Given the description of an element on the screen output the (x, y) to click on. 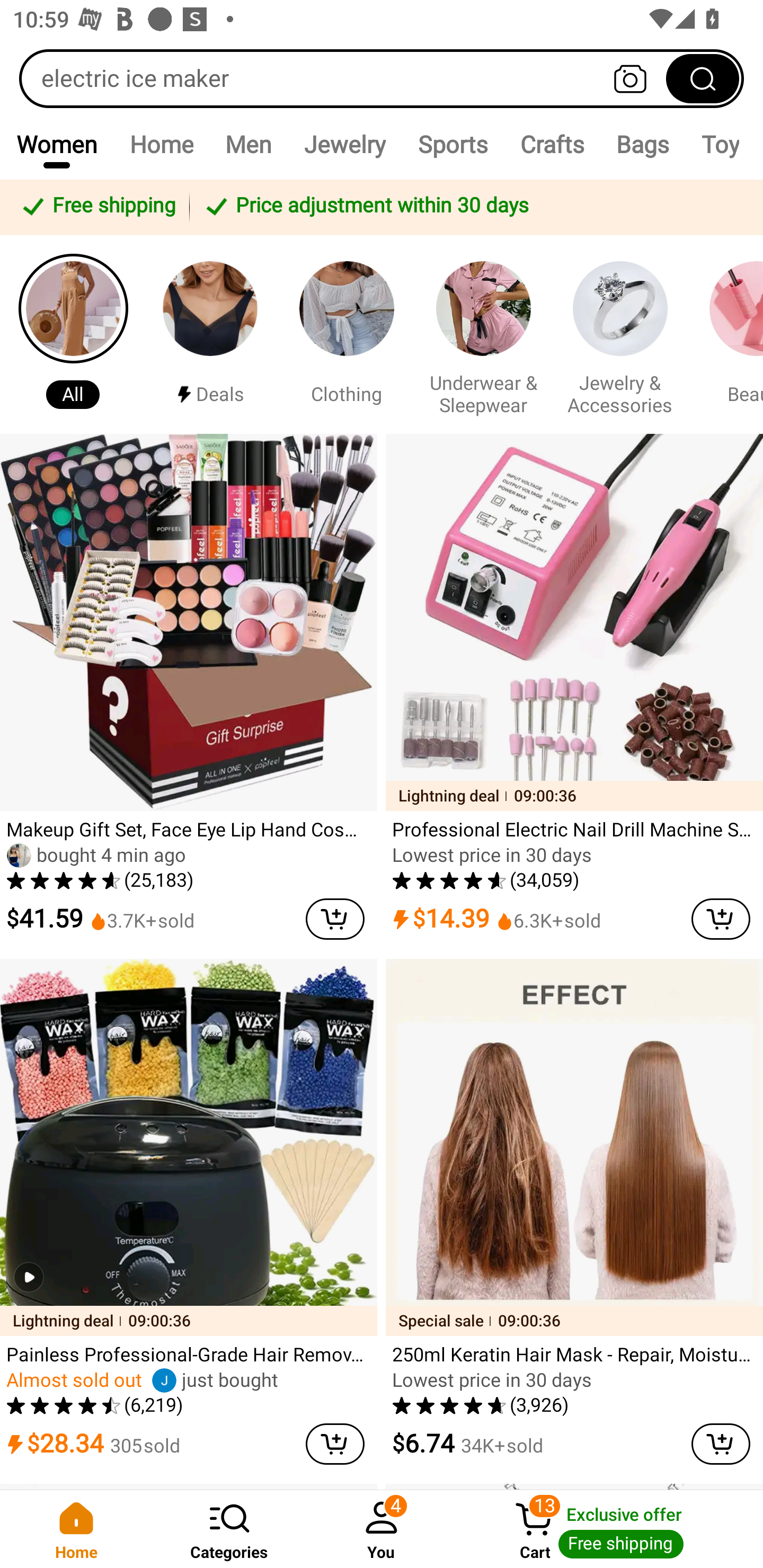
electric ice maker (381, 78)
Women (56, 144)
Home (161, 144)
Men (248, 144)
Jewelry (344, 144)
Sports (452, 144)
Crafts (551, 144)
Bags (642, 144)
Toy (720, 144)
Free shipping (97, 206)
Price adjustment within 30 days (472, 206)
All (72, 333)
￼￼Deals (209, 333)
Clothing (346, 333)
Underwear & Sleepwear (482, 333)
Jewelry & Accessories (619, 333)
cart delete (334, 918)
cart delete (720, 918)
cart delete (334, 1443)
cart delete (720, 1443)
Home (76, 1528)
Categories (228, 1528)
You 4 You (381, 1528)
Cart 13 Cart Exclusive offer (610, 1528)
